Given the description of an element on the screen output the (x, y) to click on. 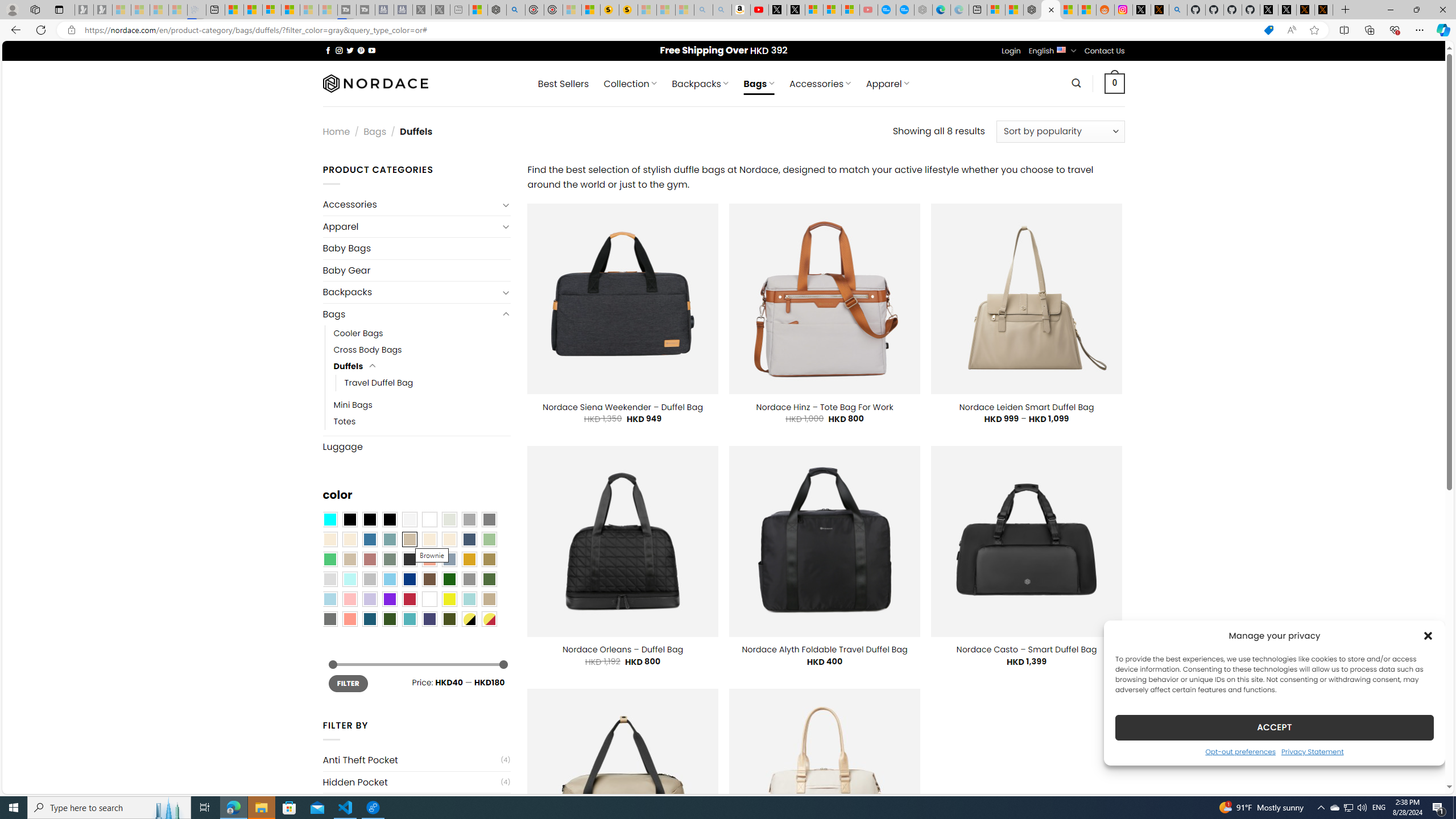
Travel Duffel Bag (427, 382)
Newsletter Sign Up - Sleeping (102, 9)
Army Green (449, 618)
Opt-out preferences (1240, 750)
Purple Navy (429, 618)
Opinion: Op-Ed and Commentary - USA TODAY (887, 9)
Mint (349, 579)
Day 1: Arriving in Yemen (surreal to be here) - YouTube (759, 9)
